Given the description of an element on the screen output the (x, y) to click on. 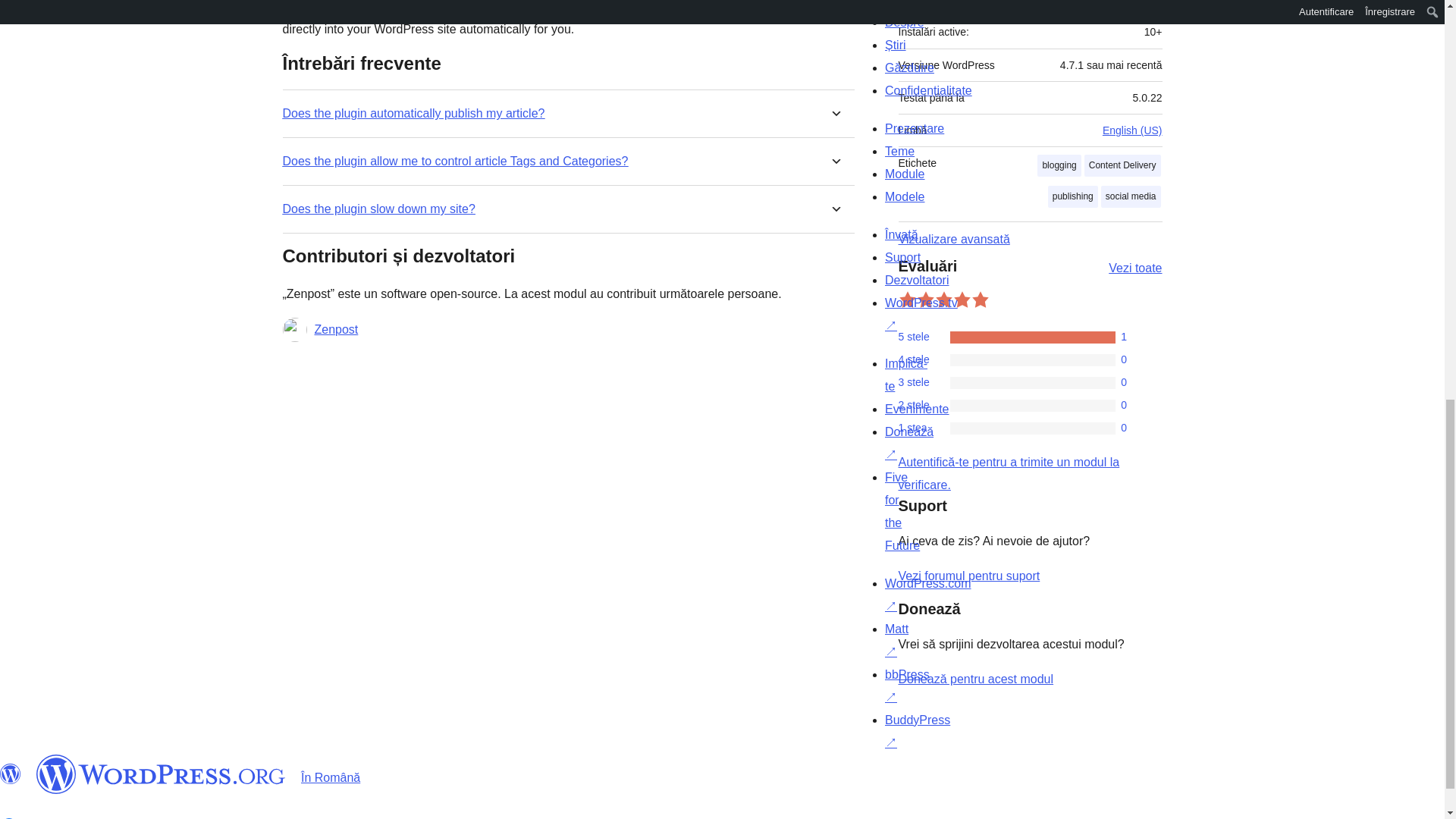
WordPress.org (10, 773)
Does the plugin slow down my site? (378, 208)
Does the plugin automatically publish my article? (413, 113)
WordPress.org (160, 773)
